Given the description of an element on the screen output the (x, y) to click on. 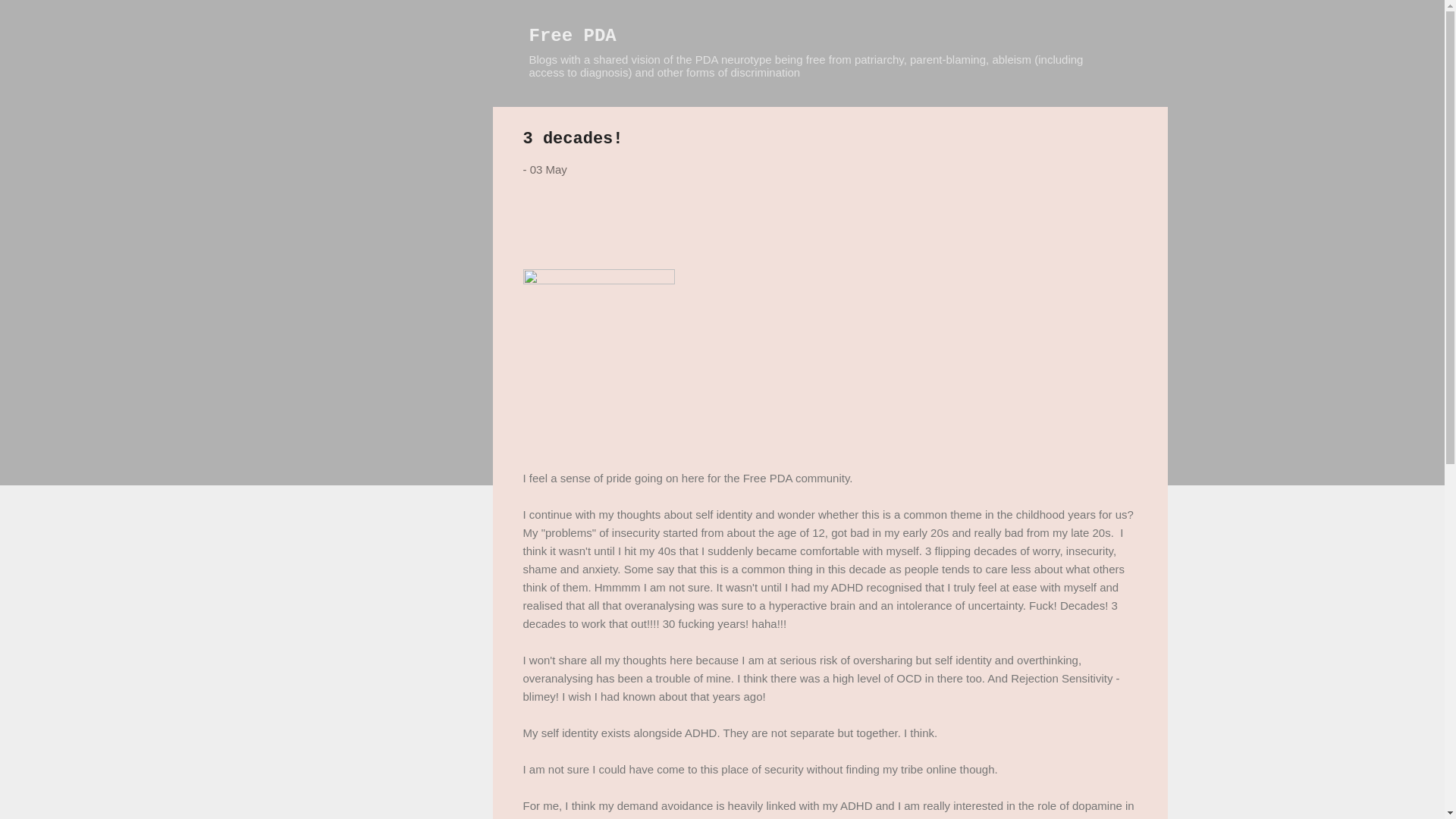
permanent link (548, 169)
03 May (548, 169)
Search (29, 18)
Free PDA (572, 35)
